Given the description of an element on the screen output the (x, y) to click on. 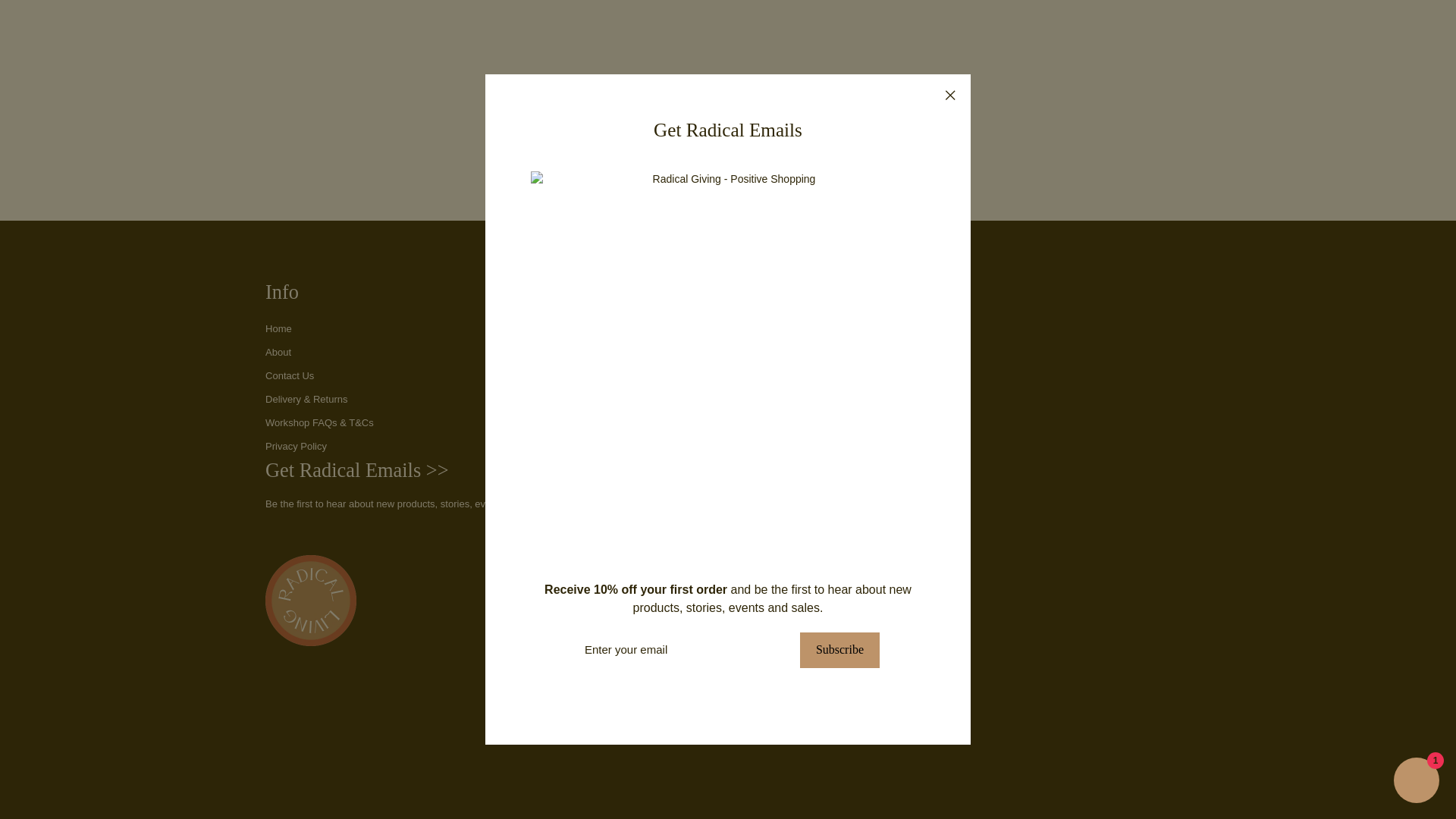
American Express (552, 738)
Discover (657, 738)
Apple Pay (587, 738)
Google Pay (692, 738)
Diners Club (622, 738)
Maestro (727, 738)
